Given the description of an element on the screen output the (x, y) to click on. 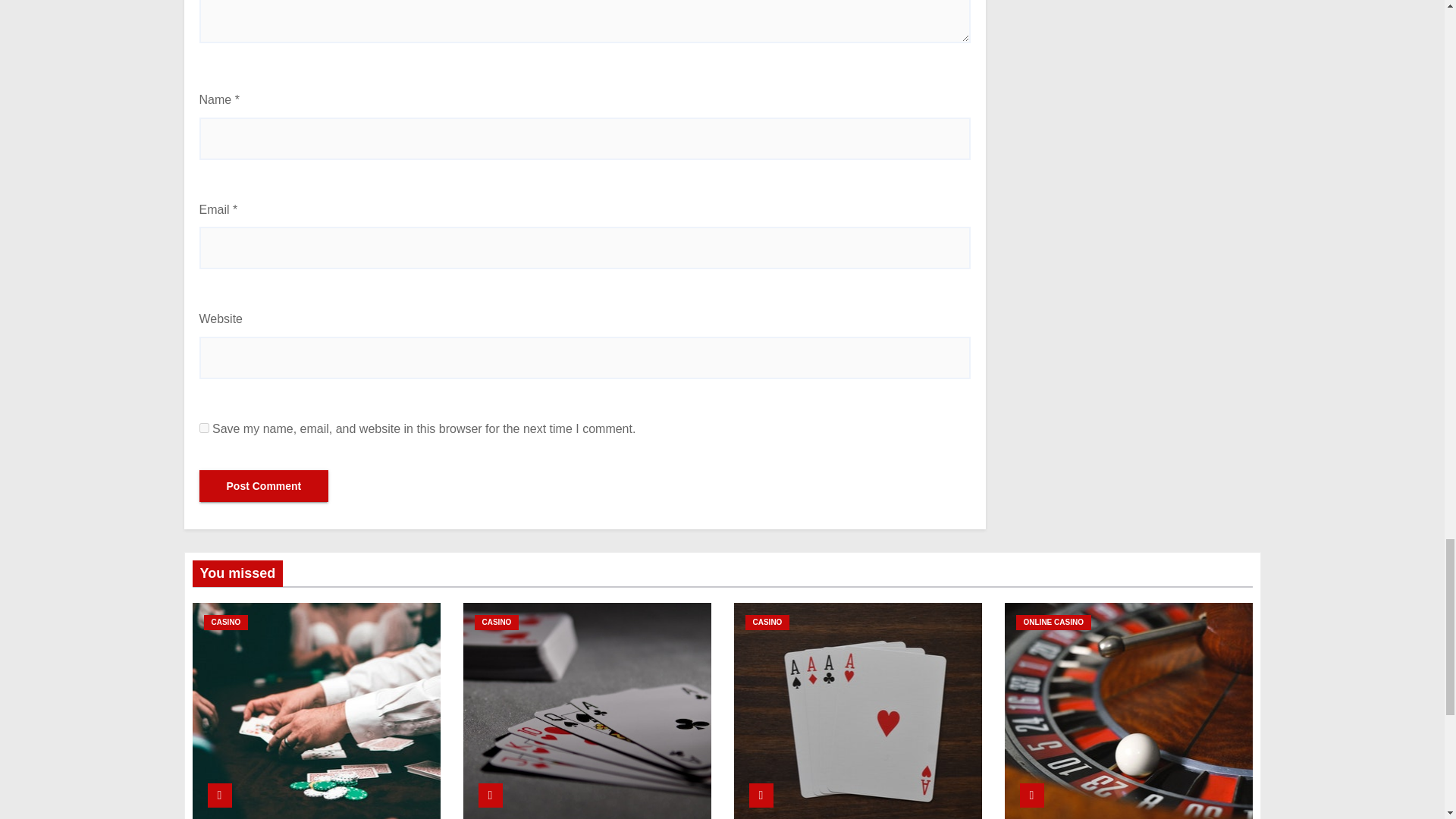
yes (203, 428)
Post Comment (263, 486)
